Given the description of an element on the screen output the (x, y) to click on. 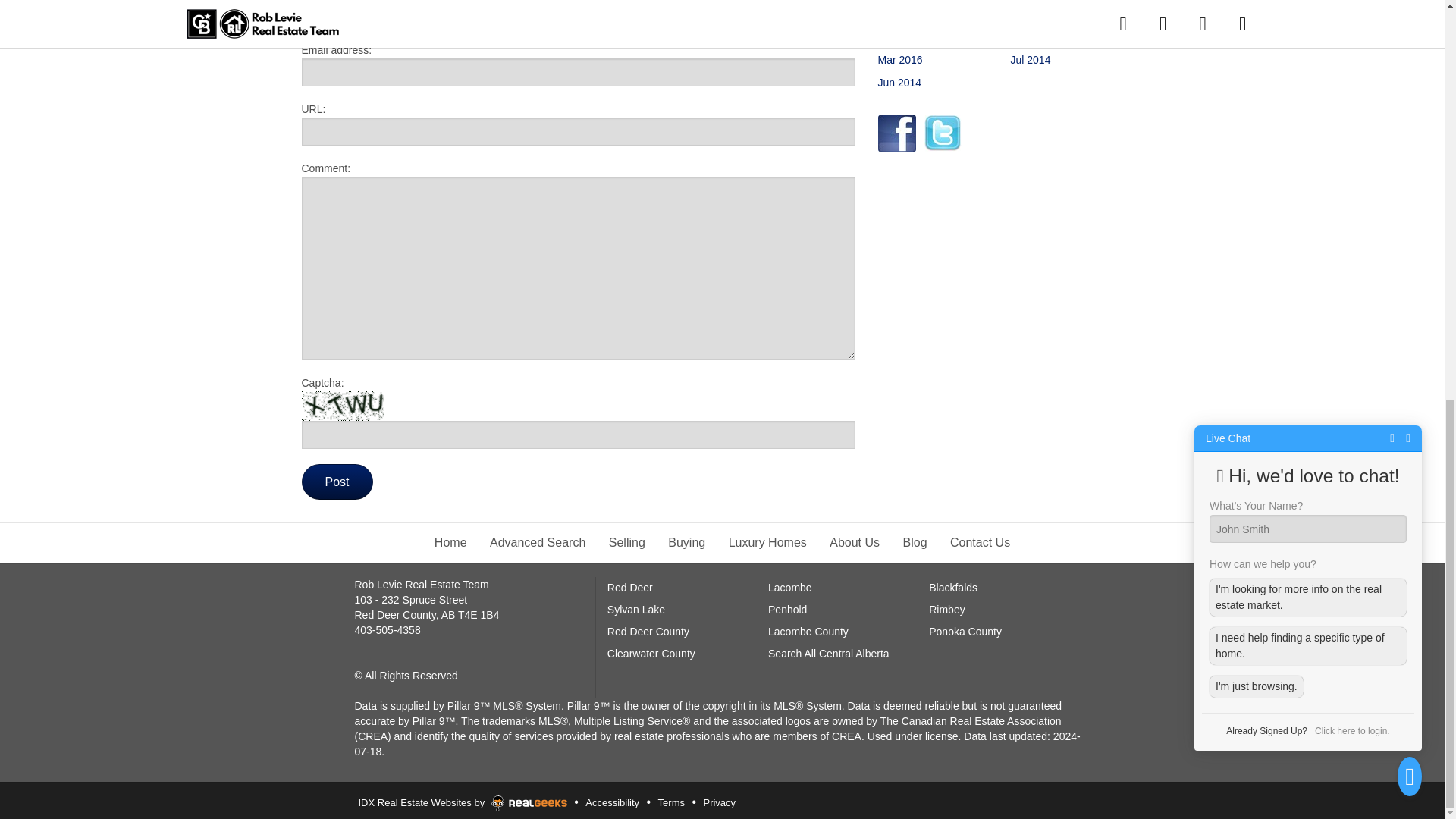
Post (336, 482)
Open Chat Client (1409, 7)
Post (336, 482)
